Given the description of an element on the screen output the (x, y) to click on. 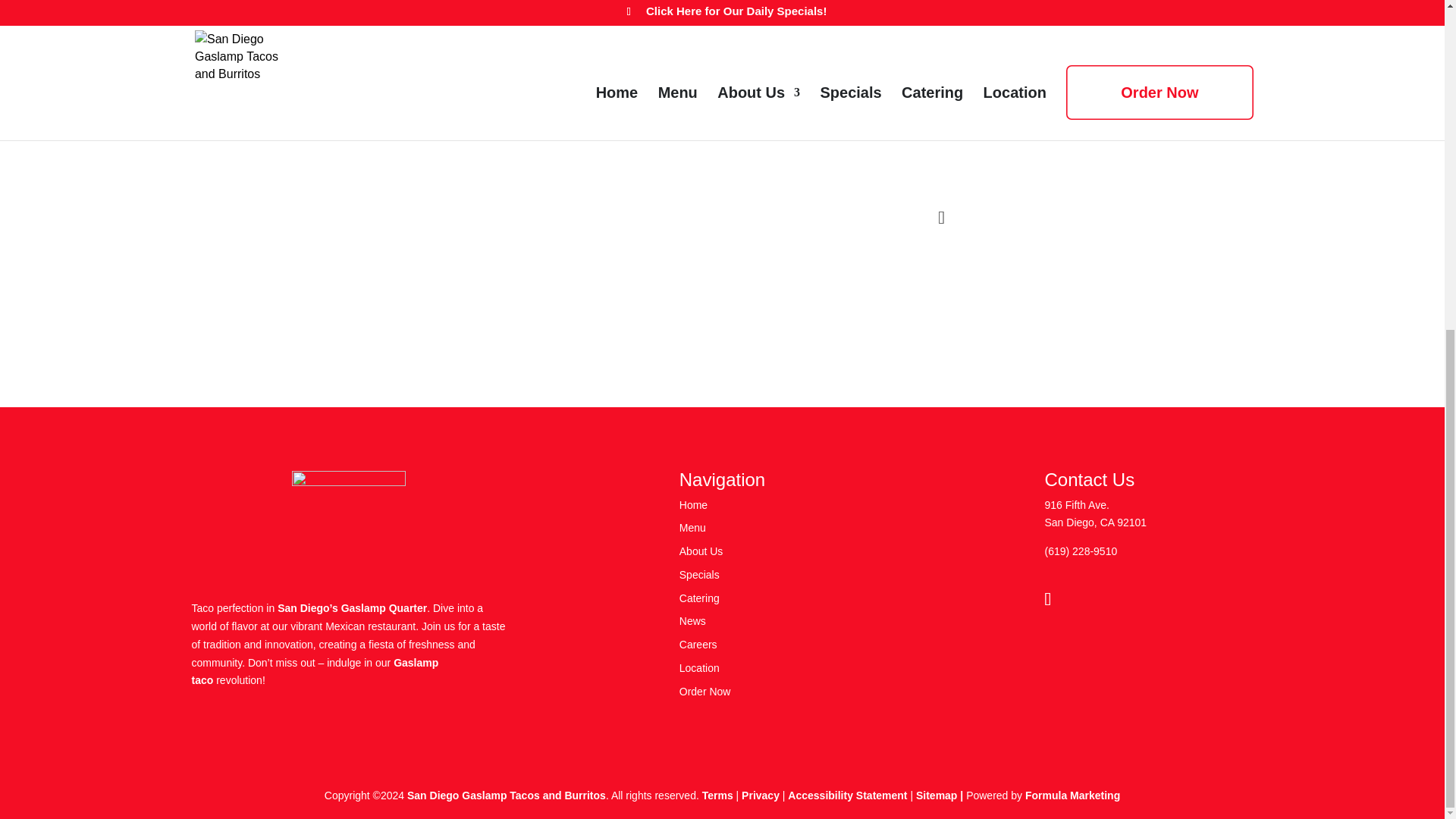
News (952, 132)
Order Now (704, 691)
Formula Marketing (1072, 795)
Home (693, 504)
Accessibility Statement (847, 795)
Location (699, 667)
Sitemap (935, 795)
Privacy (759, 795)
Menu (692, 527)
Careers (698, 644)
